Given the description of an element on the screen output the (x, y) to click on. 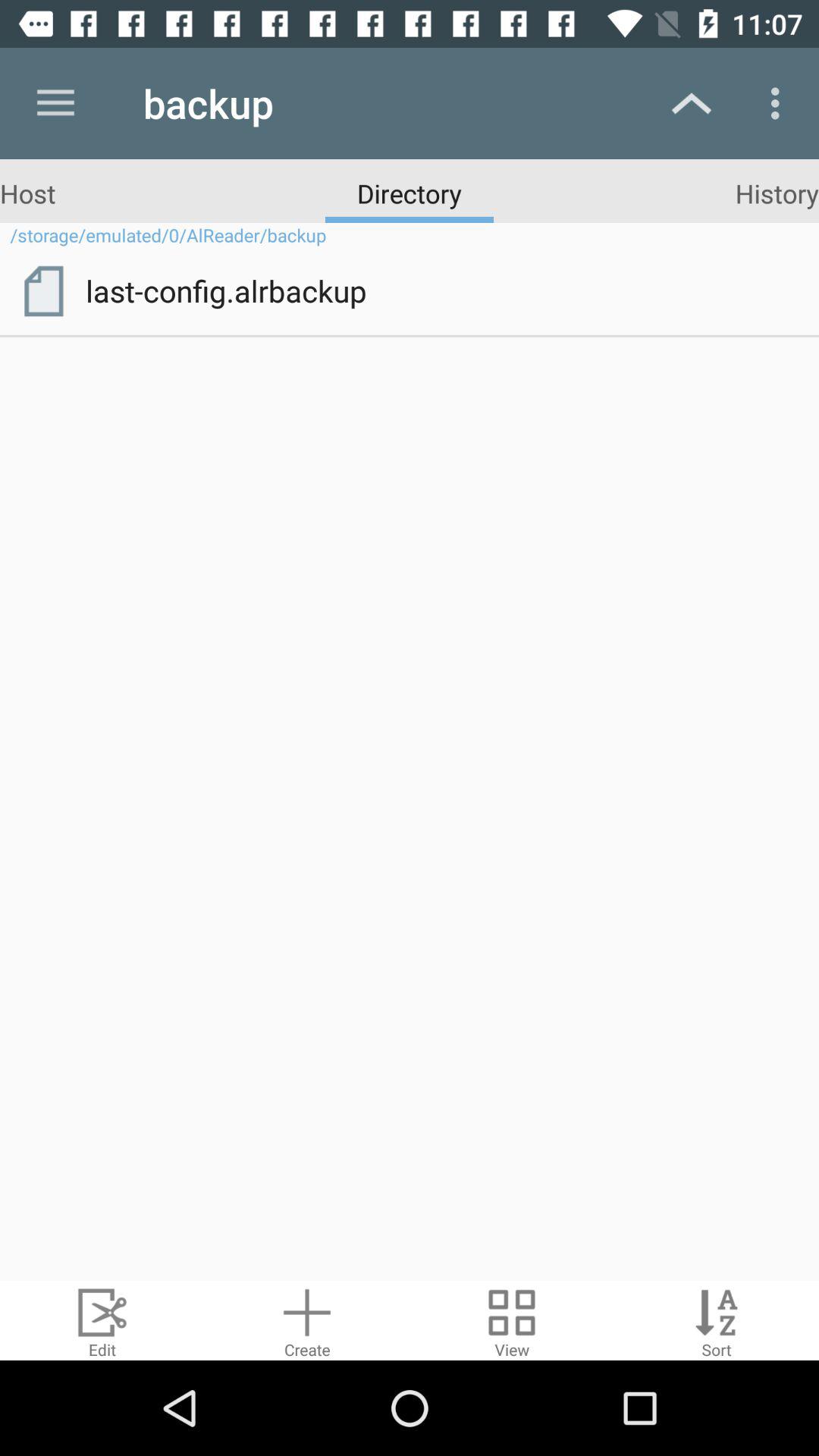
select the item to the left of the directory (27, 193)
